Given the description of an element on the screen output the (x, y) to click on. 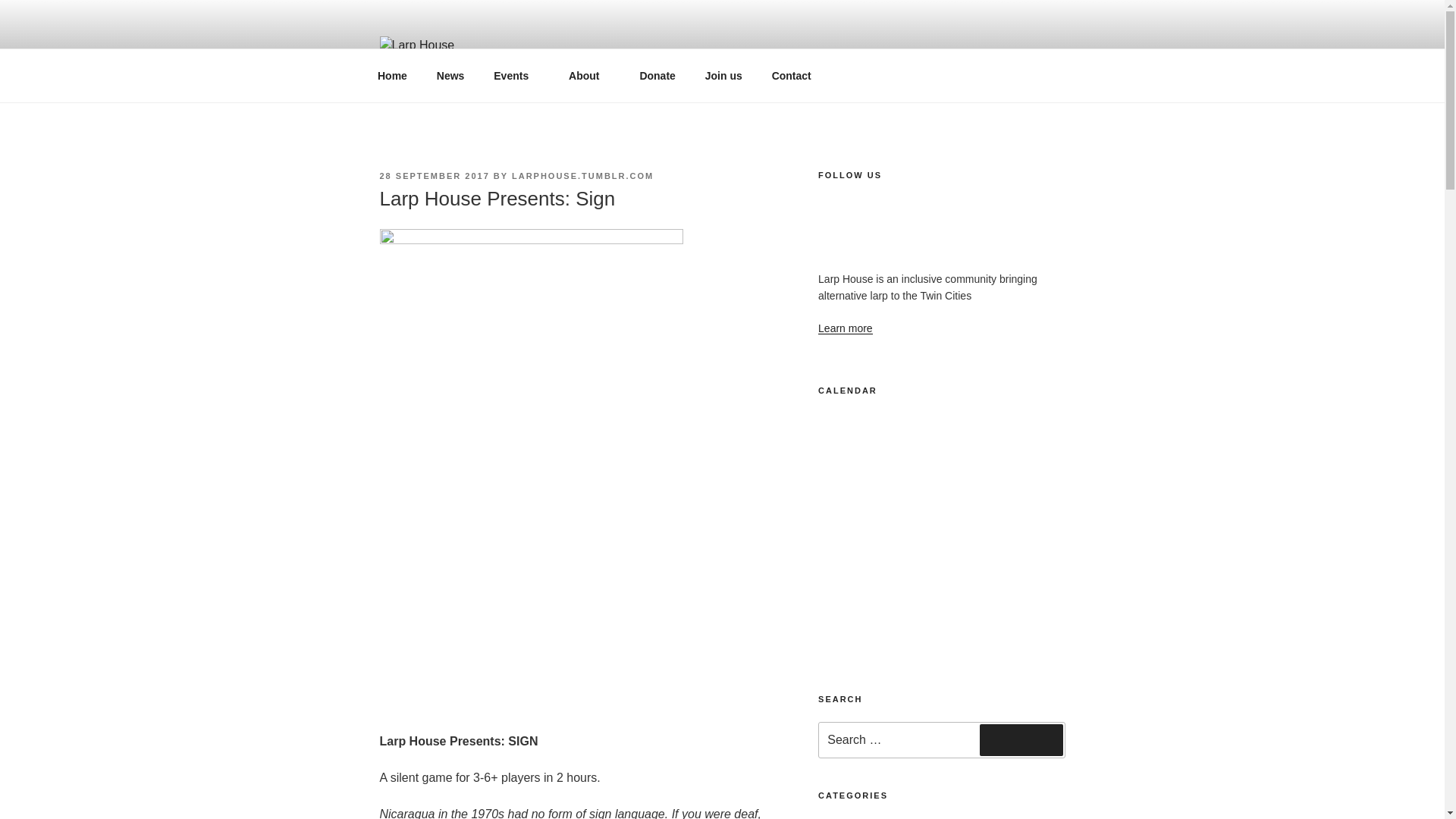
Donate (657, 76)
News (450, 76)
Join us (723, 76)
About (589, 76)
Home (392, 76)
LARPHOUSE.TUMBLR.COM (582, 175)
Contact (791, 76)
28 SEPTEMBER 2017 (433, 175)
LARP HOUSE (478, 83)
Events (516, 76)
